Given the description of an element on the screen output the (x, y) to click on. 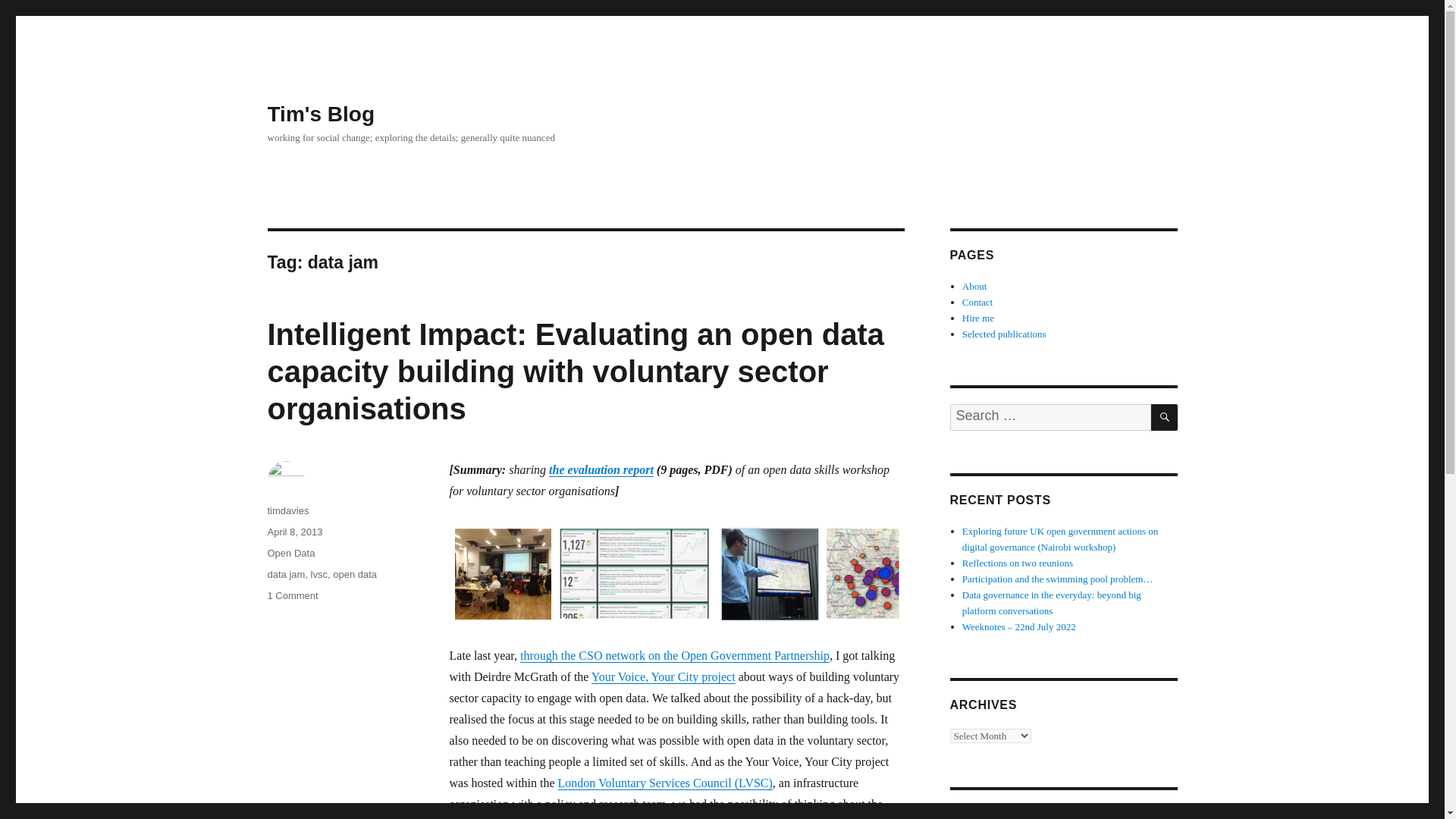
Open Data (290, 552)
open data (355, 573)
Reflections on two reunions (1017, 562)
through the CSO network on the Open Government Partnership (674, 655)
lvsc (319, 573)
About (974, 285)
Your Voice, Your City project (663, 676)
Tim's Blog (320, 114)
Contact (977, 301)
